Given the description of an element on the screen output the (x, y) to click on. 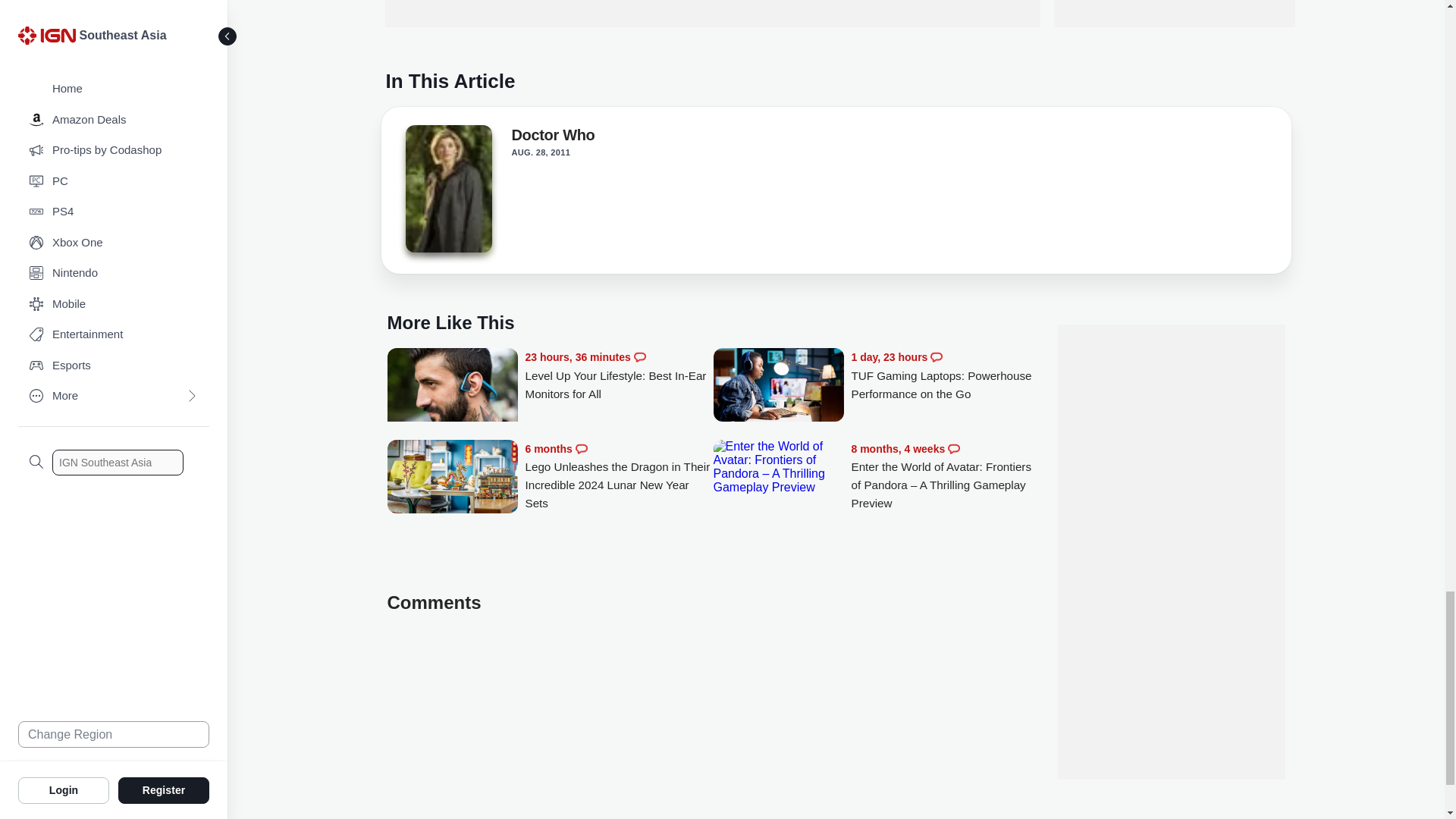
TUF Gaming Laptops: Powerhouse Performance on the Go (778, 386)
Comments (639, 357)
Doctor Who (552, 137)
Comments (936, 357)
Level Up Your Lifestyle: Best In-Ear Monitors for All (618, 375)
TUF Gaming Laptops: Powerhouse Performance on the Go (944, 375)
Comments (581, 449)
Level Up Your Lifestyle: Best In-Ear Monitors for All (451, 393)
